Given the description of an element on the screen output the (x, y) to click on. 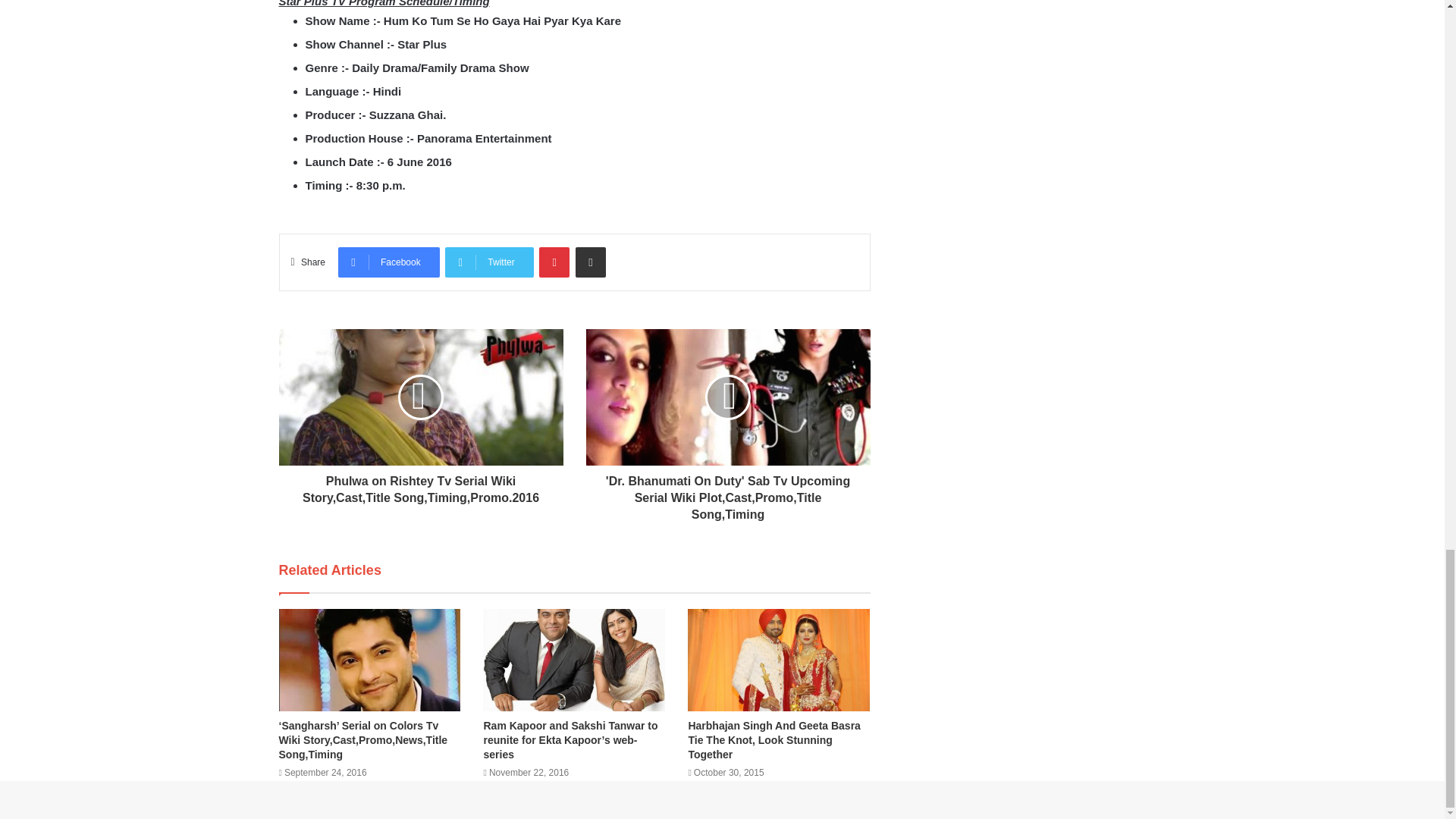
Pinterest (553, 262)
Twitter (488, 262)
Share via Email (590, 262)
Facebook (388, 262)
Facebook (388, 262)
Share via Email (590, 262)
Twitter (488, 262)
Pinterest (553, 262)
